Given the description of an element on the screen output the (x, y) to click on. 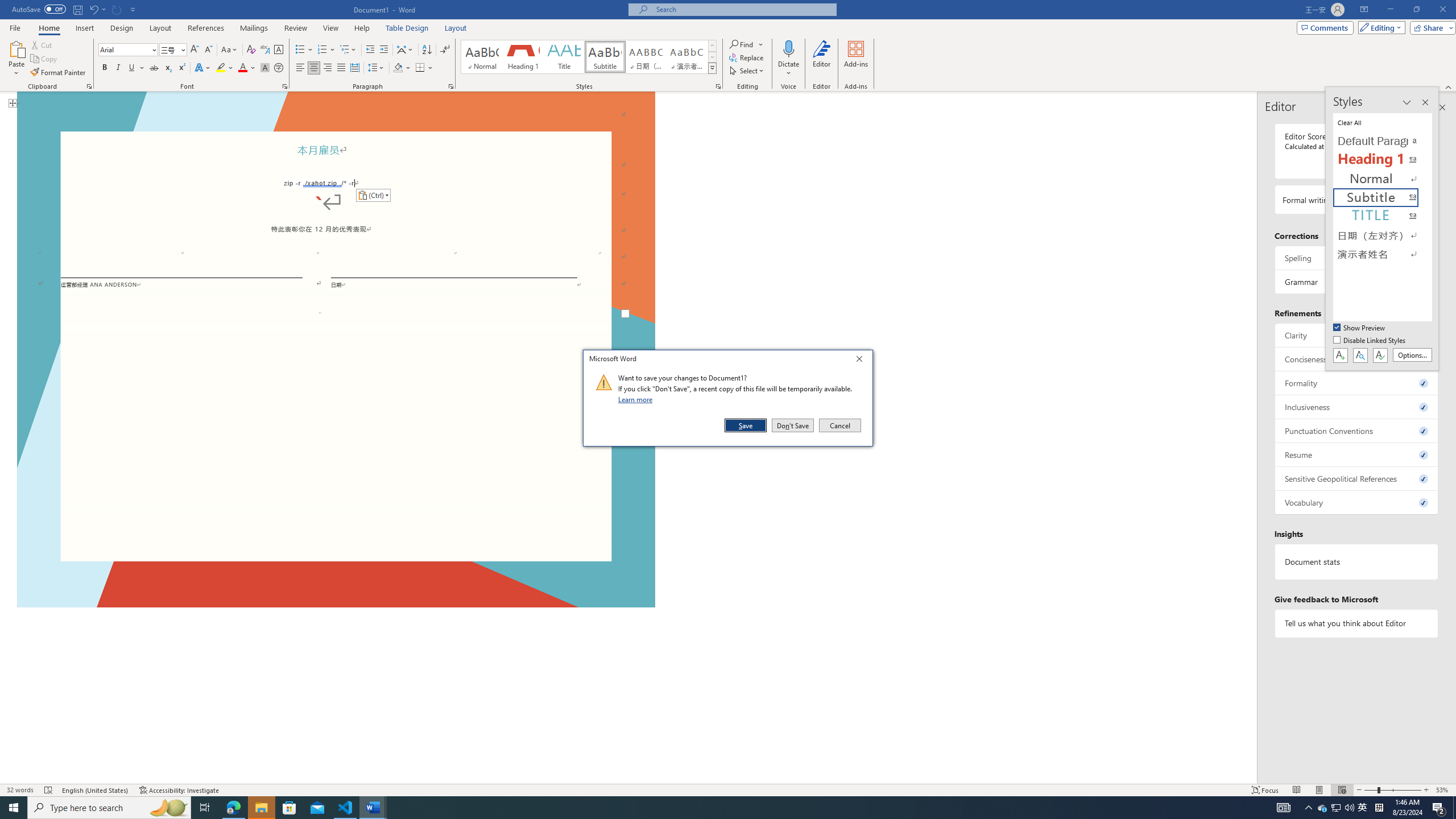
Formality, 0 issues. Press space or enter to review items. (1356, 382)
Zoom 53% (1443, 790)
Running applications (700, 807)
Font Color Red (241, 67)
